Given the description of an element on the screen output the (x, y) to click on. 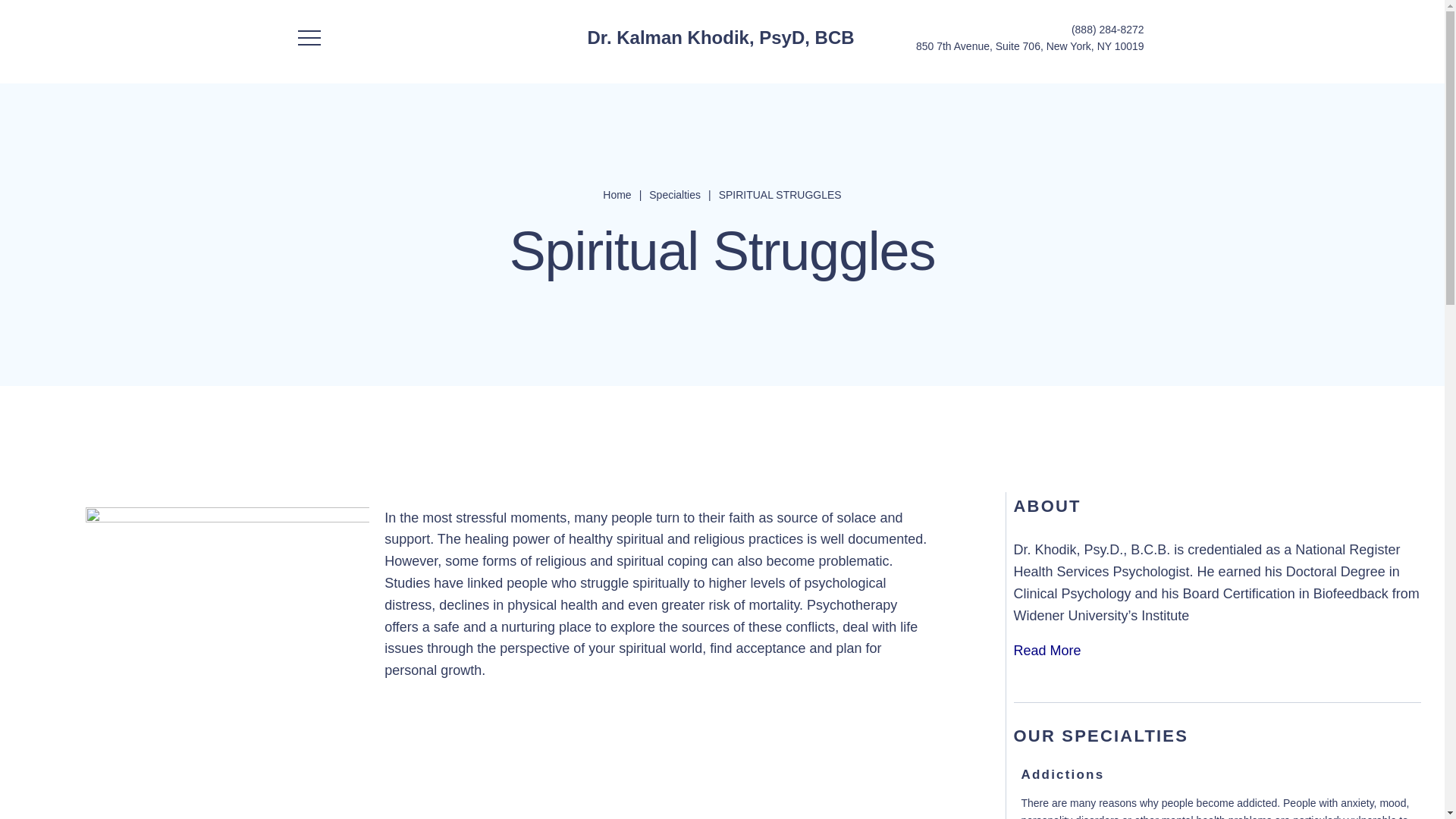
Specialties (674, 194)
Read More (1046, 650)
Specialties (331, 222)
Specialties (674, 194)
Home (616, 194)
Home (290, 222)
Addictions (1061, 774)
Home (290, 222)
Dr. Kalman Khodik, PsyD, BCB (721, 37)
Specialties (331, 222)
Home (616, 194)
